Given the description of an element on the screen output the (x, y) to click on. 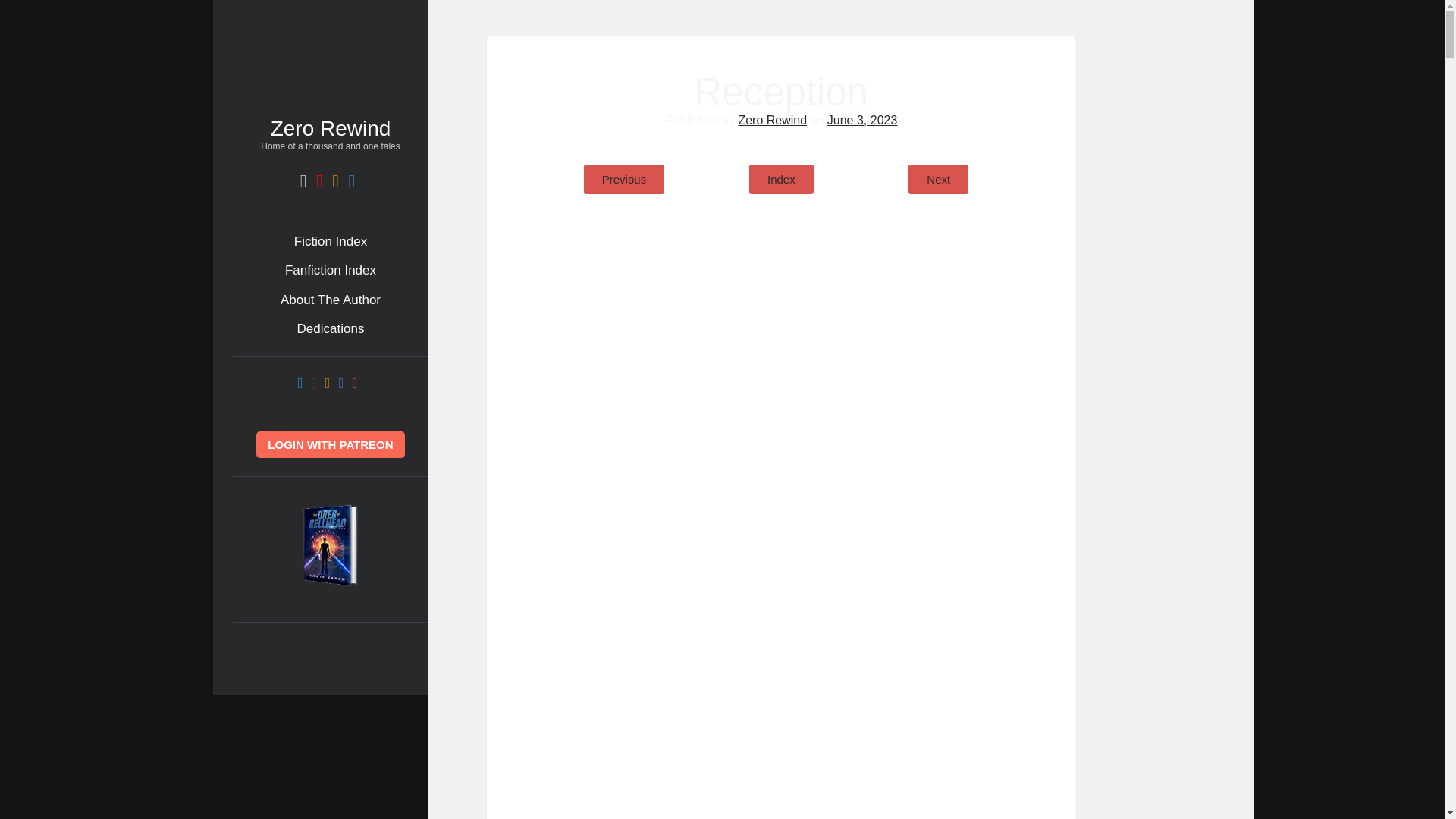
Index (781, 179)
Fiction Index (330, 241)
Fanfiction Index (330, 270)
Dedications (331, 329)
About The Author (330, 300)
LOGIN WITH PATREON (330, 444)
Zero Rewind (330, 128)
Previous (623, 179)
Next (938, 179)
LOGIN WITH PATREON (330, 445)
